Given the description of an element on the screen output the (x, y) to click on. 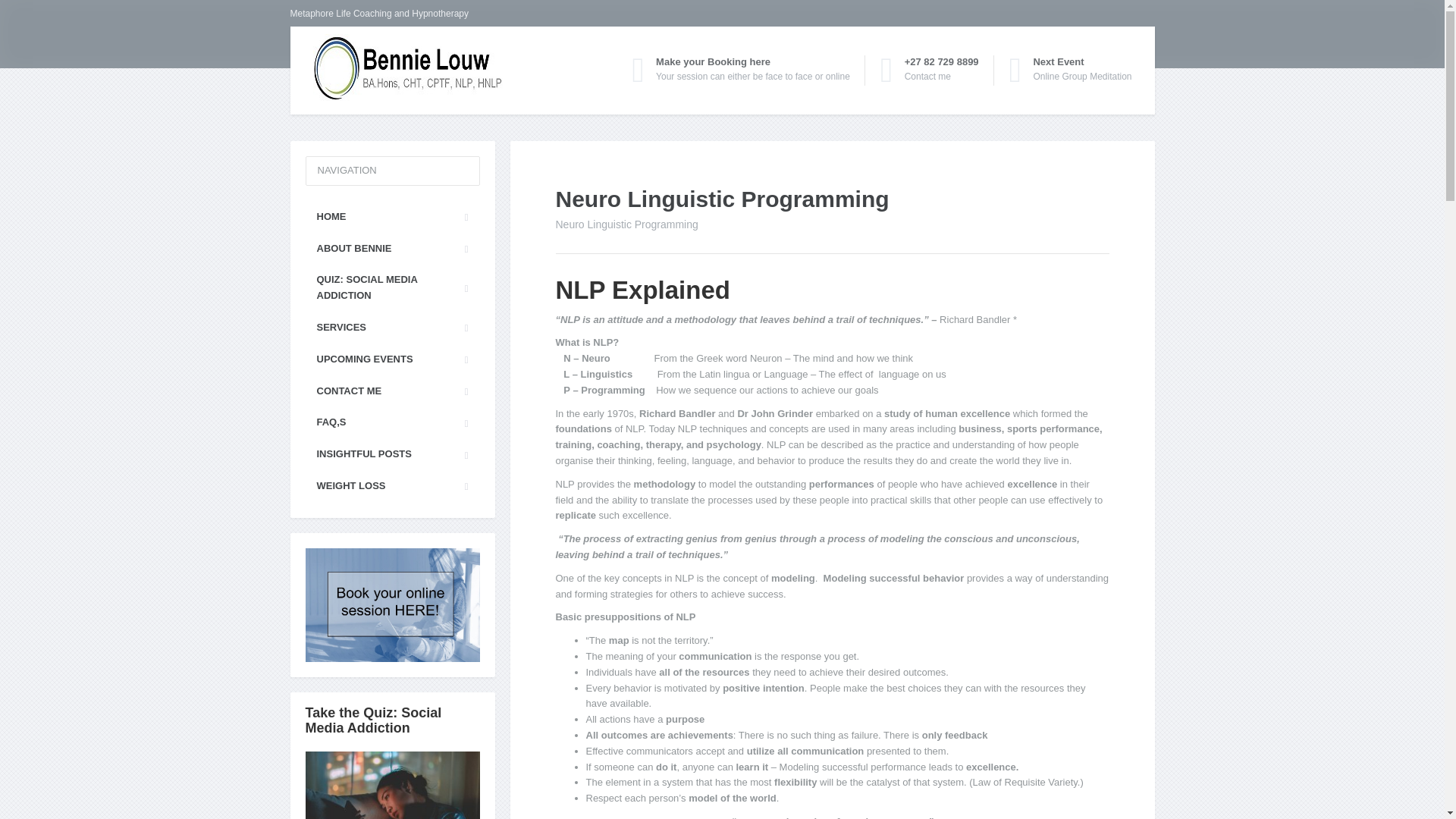
UPCOMING EVENTS (391, 359)
INSIGHTFUL POSTS (391, 454)
FAQ,S (391, 422)
HOME (1070, 70)
SERVICES (391, 216)
QUIZ: SOCIAL MEDIA ADDICTION (391, 327)
CONTACT ME (391, 288)
ABOUT BENNIE (391, 391)
Online booking Blue X700 (391, 248)
